Given the description of an element on the screen output the (x, y) to click on. 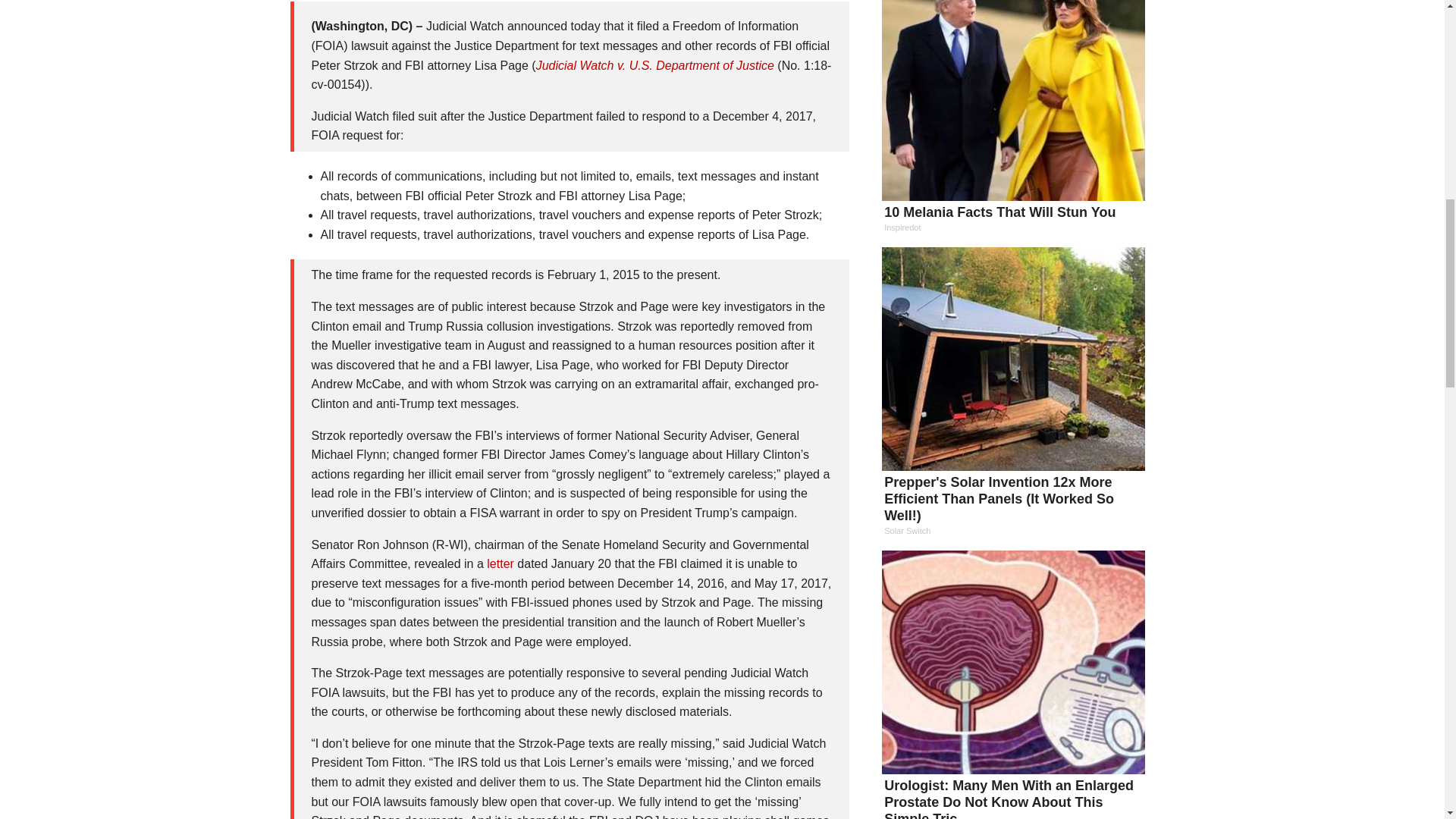
letter (499, 563)
Judicial Watch v. U.S. Department of Justice (654, 65)
